Given the description of an element on the screen output the (x, y) to click on. 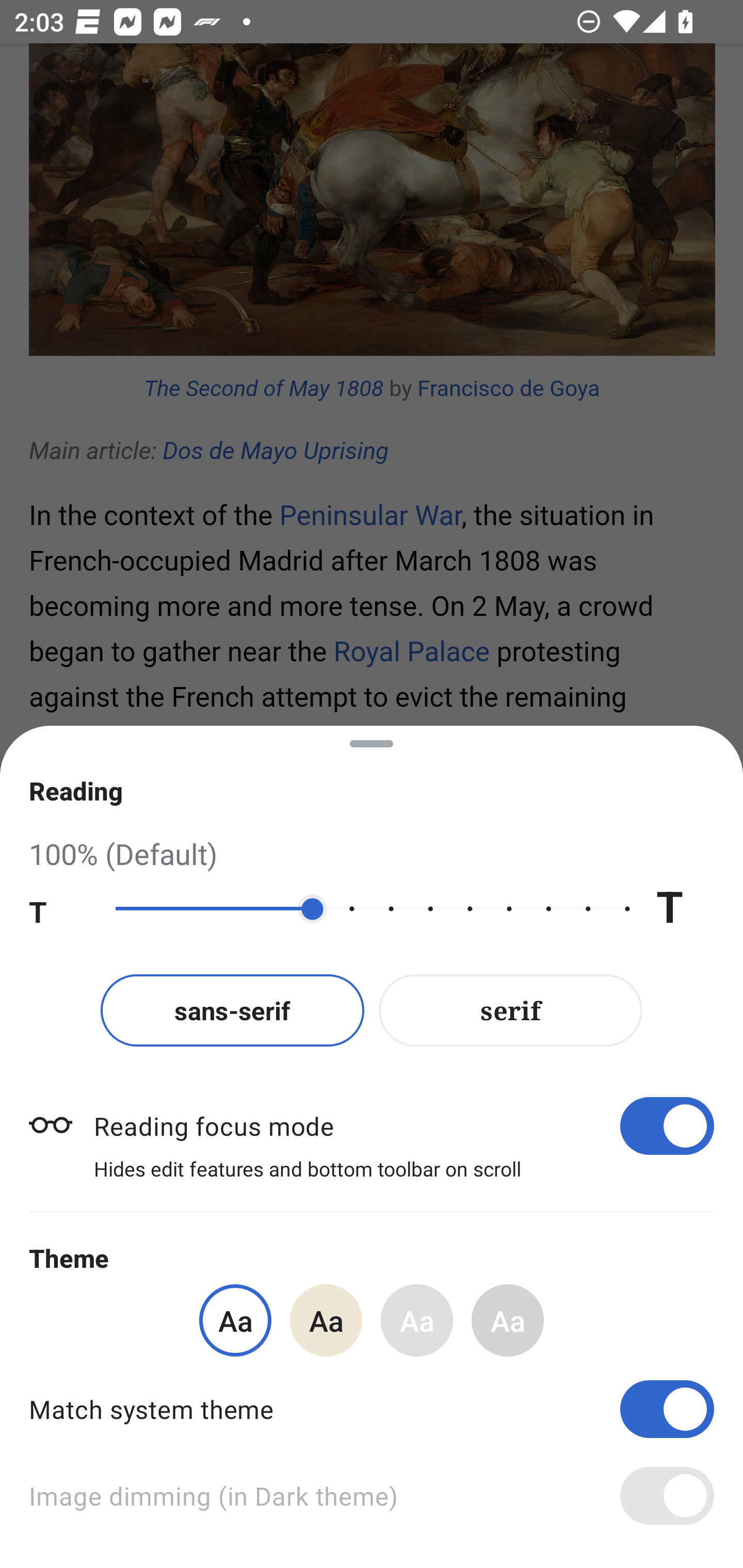
T Decrease text size (57, 909)
T Increase text size (685, 909)
sans-serif (232, 1010)
serif (510, 1010)
Reading focus mode (403, 1125)
Aa (325, 1320)
Aa (416, 1320)
Aa (507, 1320)
Match system theme (371, 1408)
Image dimming (in Dark theme) (371, 1495)
